Given the description of an element on the screen output the (x, y) to click on. 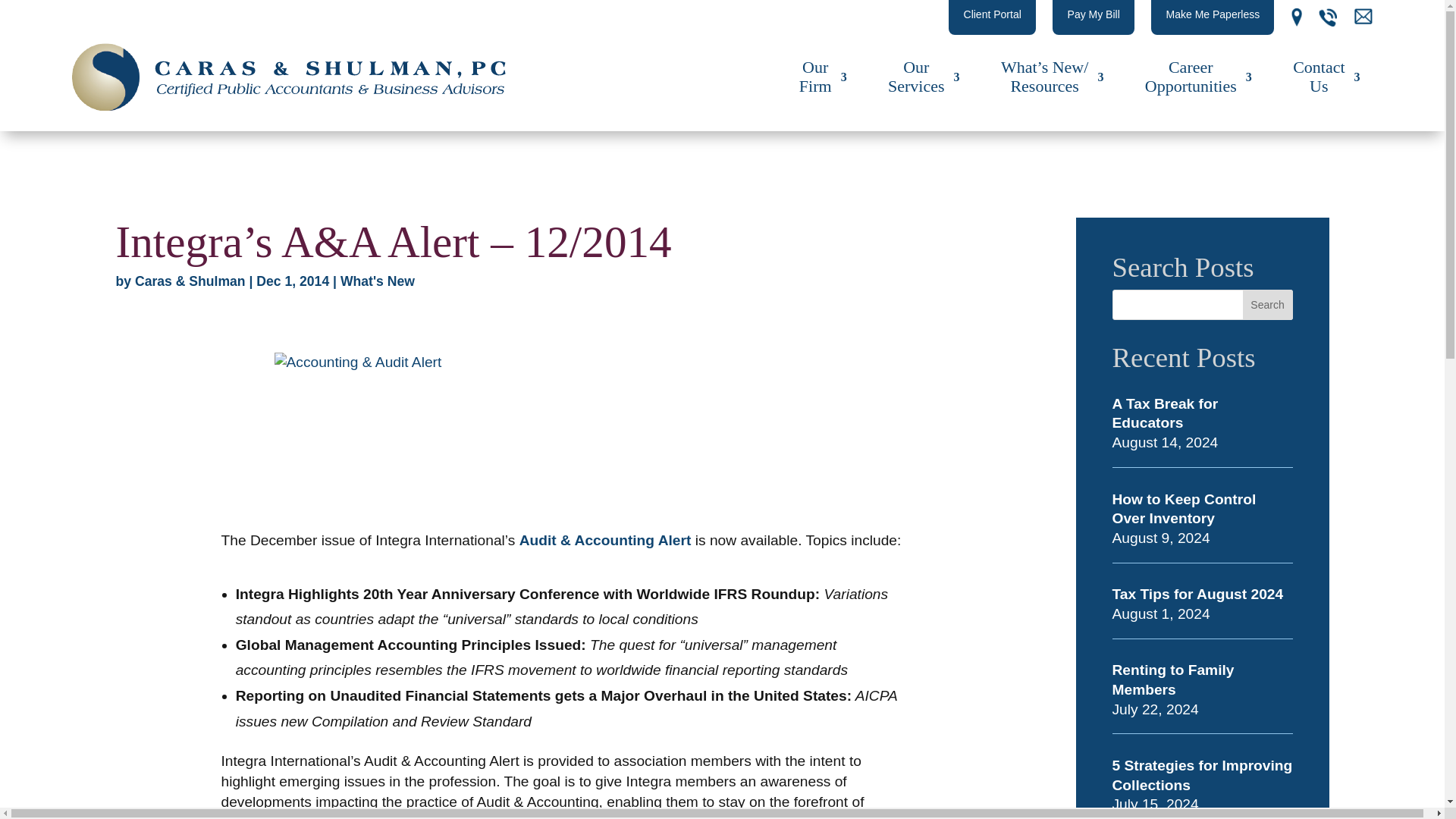
Make Me Paperless (1212, 17)
Renting to Family Members (1198, 76)
Pay My Bill (1172, 679)
Search (1093, 17)
Tax Tips for August 2024 (1267, 304)
What's New (1197, 593)
Client Portal (377, 281)
A Tax Break for Educators (992, 17)
Search (1164, 413)
